Given the description of an element on the screen output the (x, y) to click on. 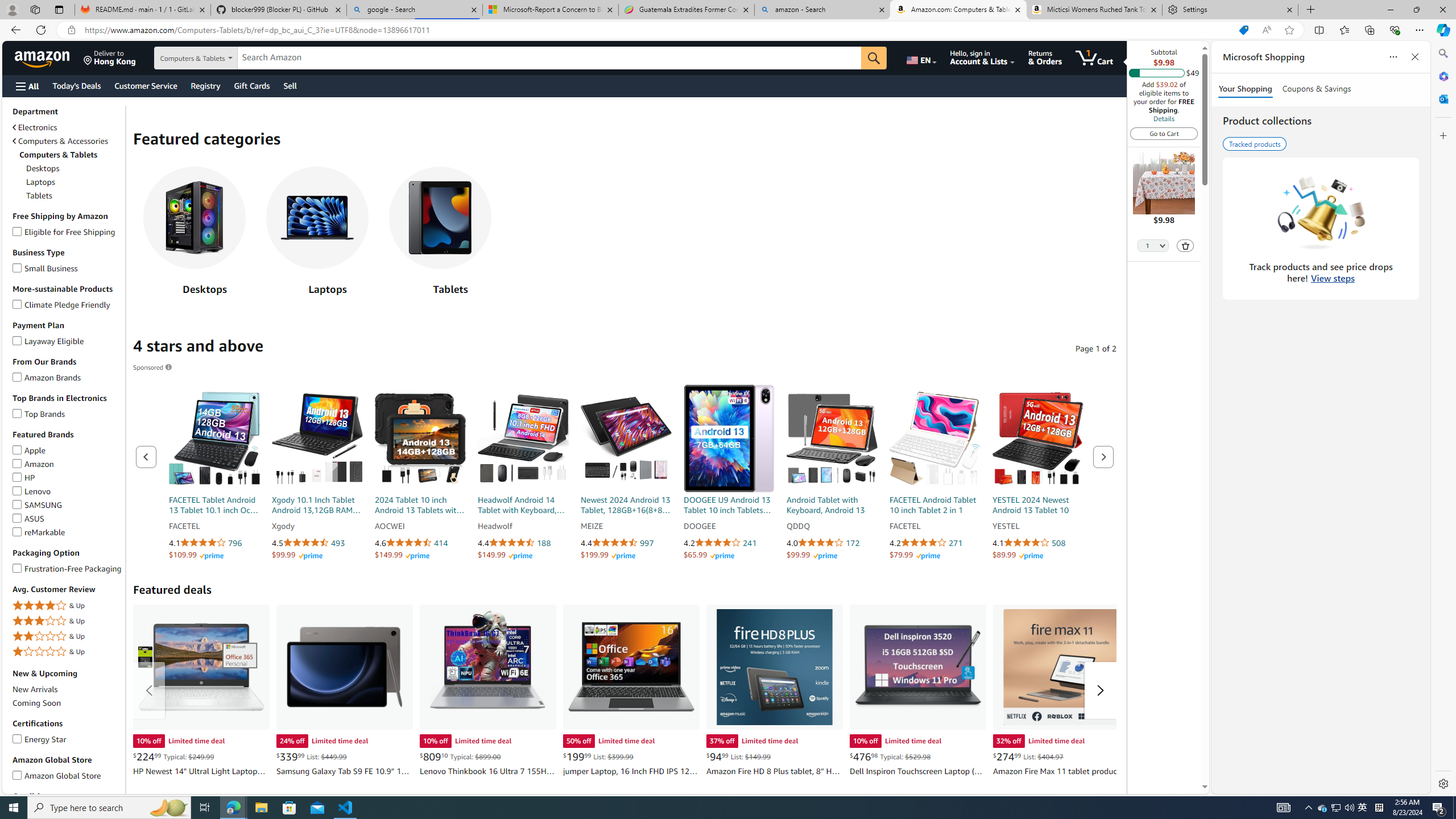
Deliver to Hong Kong (109, 57)
HP HP (23, 476)
4.2 out of 5 stars 241 ratings (729, 543)
Coming Soon (37, 702)
AppleApple (67, 450)
Go to Cart (1163, 133)
Apple (17, 447)
SAMSUNG SAMSUNG (37, 504)
